Given the description of an element on the screen output the (x, y) to click on. 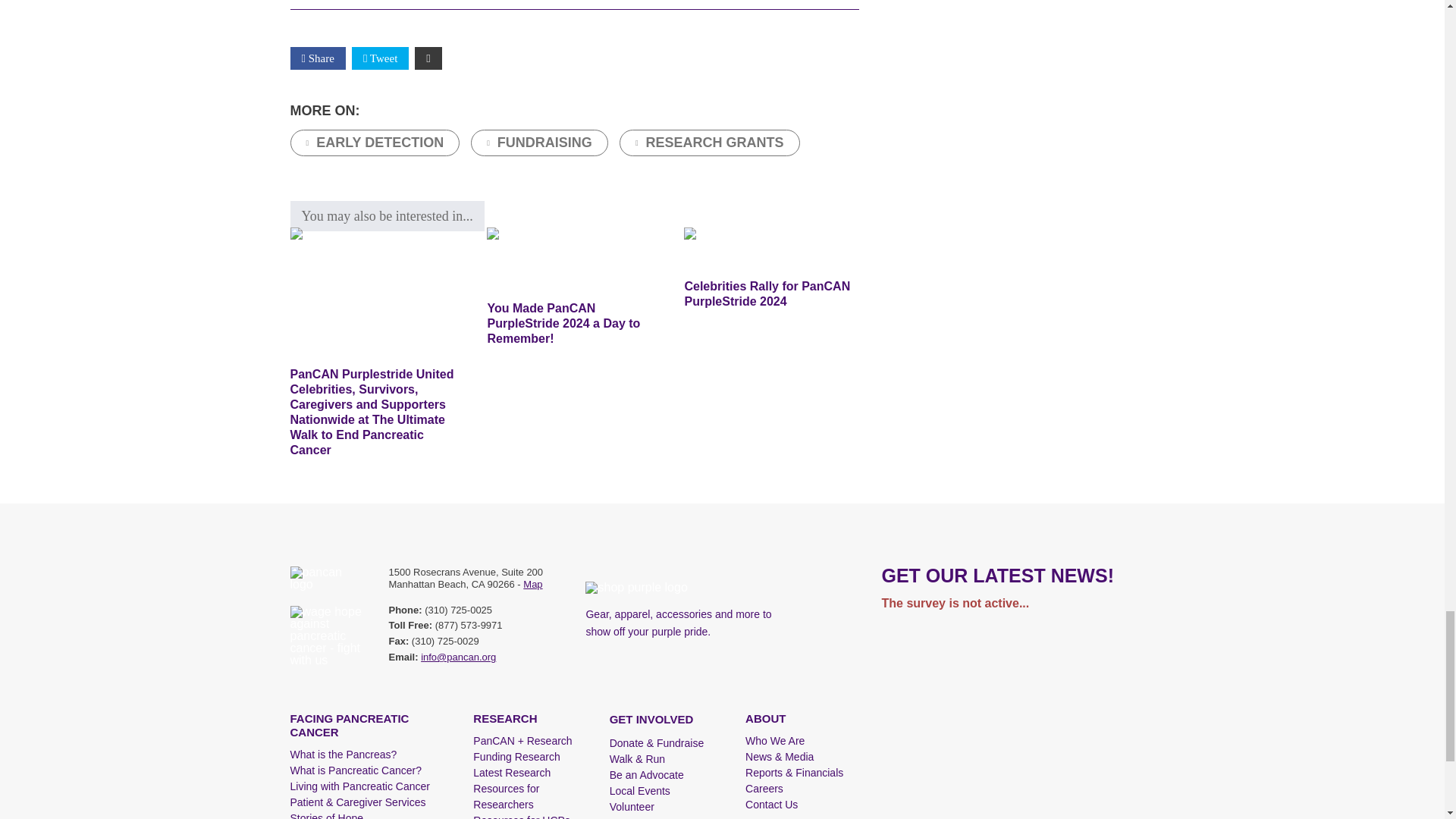
Celebrities Rally for PanCAN PurpleStride 2024 (771, 249)
You Made PanCAN PurpleStride 2024 a Day to Remember! (573, 260)
